Given the description of an element on the screen output the (x, y) to click on. 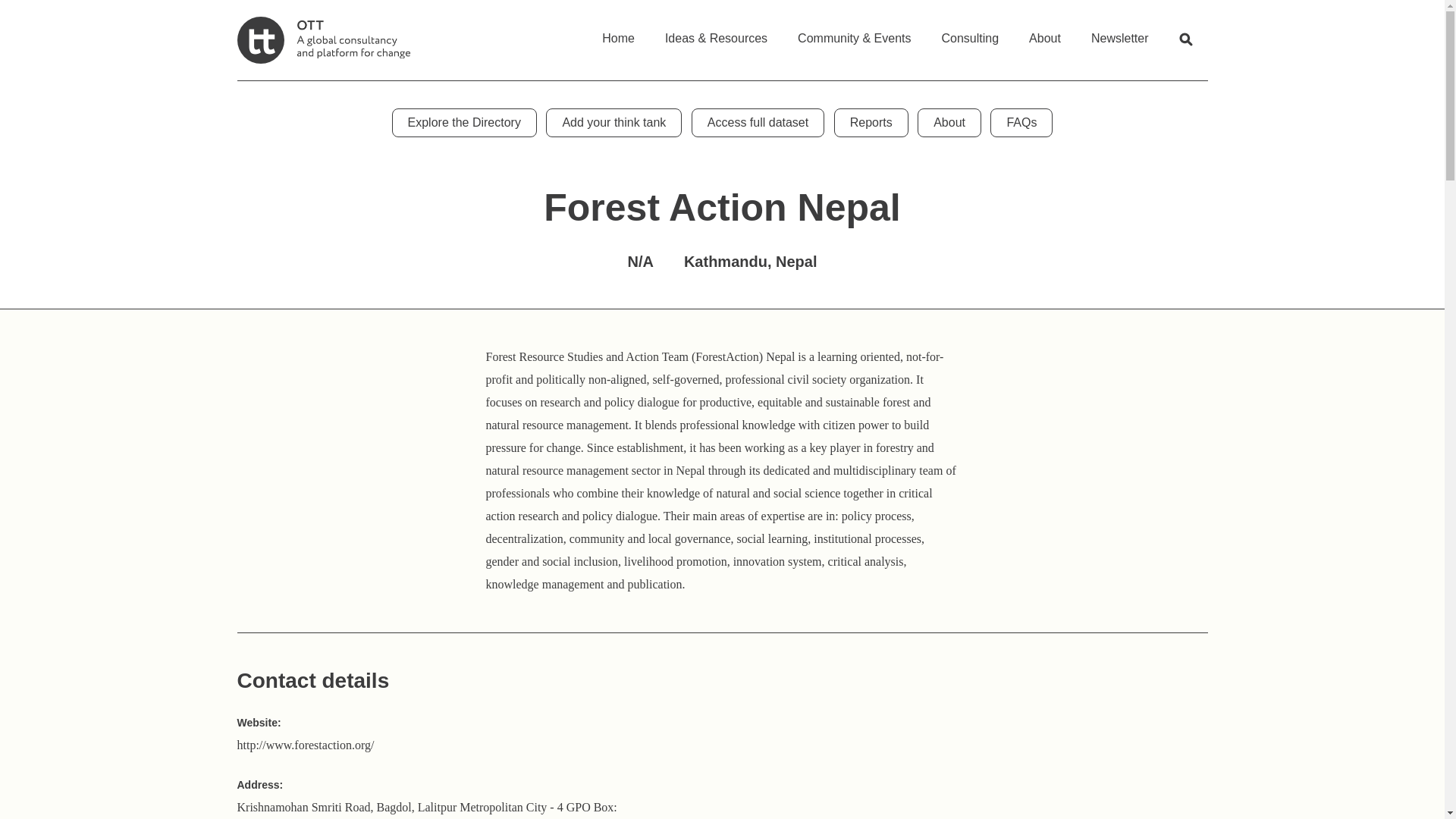
Go to homepage (322, 39)
Reports (871, 122)
Newsletter (1119, 33)
Consulting (970, 33)
About (1044, 33)
Home (617, 33)
Access full dataset (757, 122)
FAQs (1021, 122)
Add your think tank (613, 122)
Explore the Directory (464, 122)
About (949, 122)
